Given the description of an element on the screen output the (x, y) to click on. 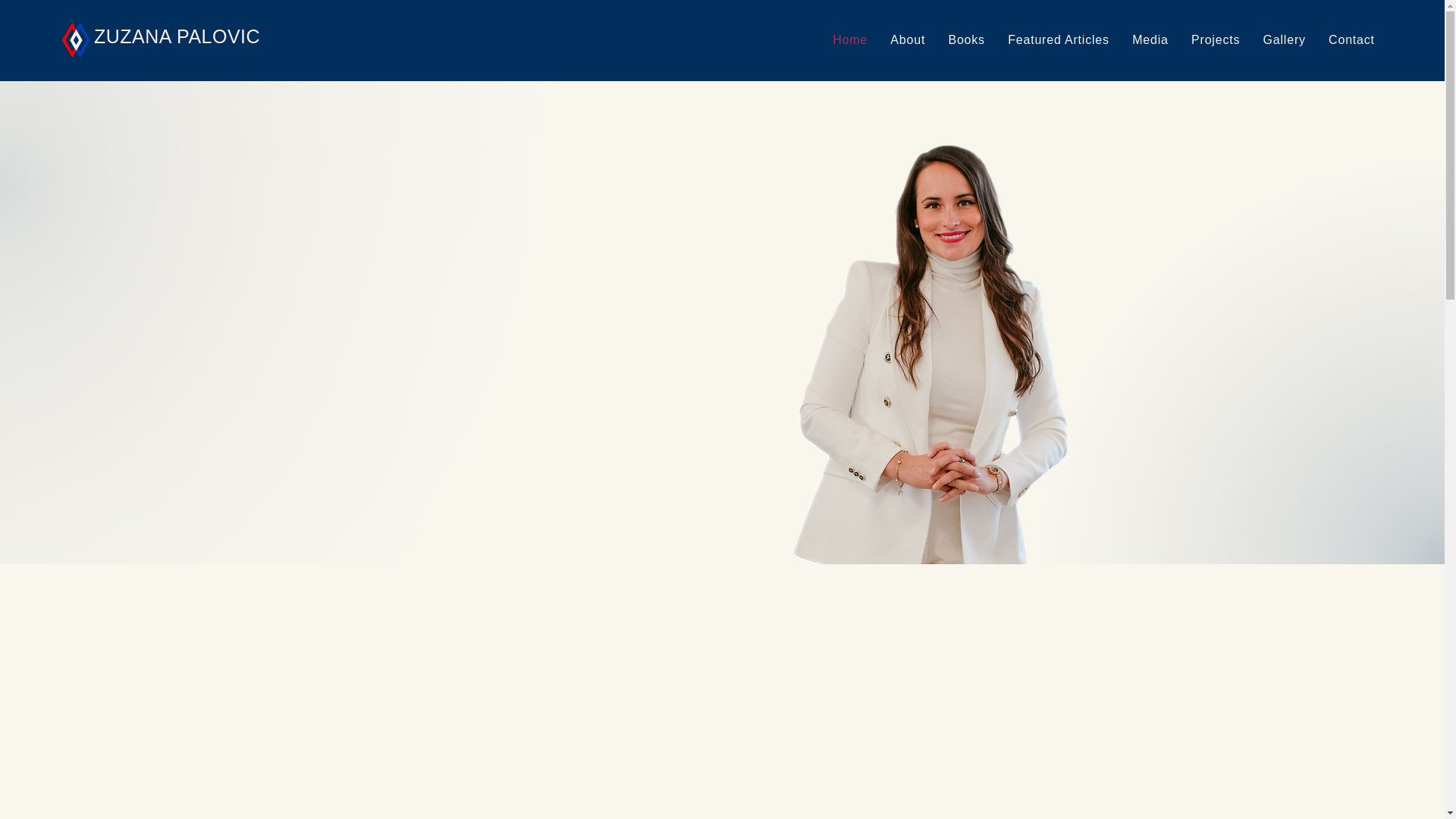
About (907, 39)
Gallery (1283, 39)
Media (1150, 39)
Contact (1351, 39)
Home (850, 39)
Books (965, 39)
Projects (1215, 39)
ZUZANA PALOVIC (177, 35)
Featured Articles (1058, 39)
